Given the description of an element on the screen output the (x, y) to click on. 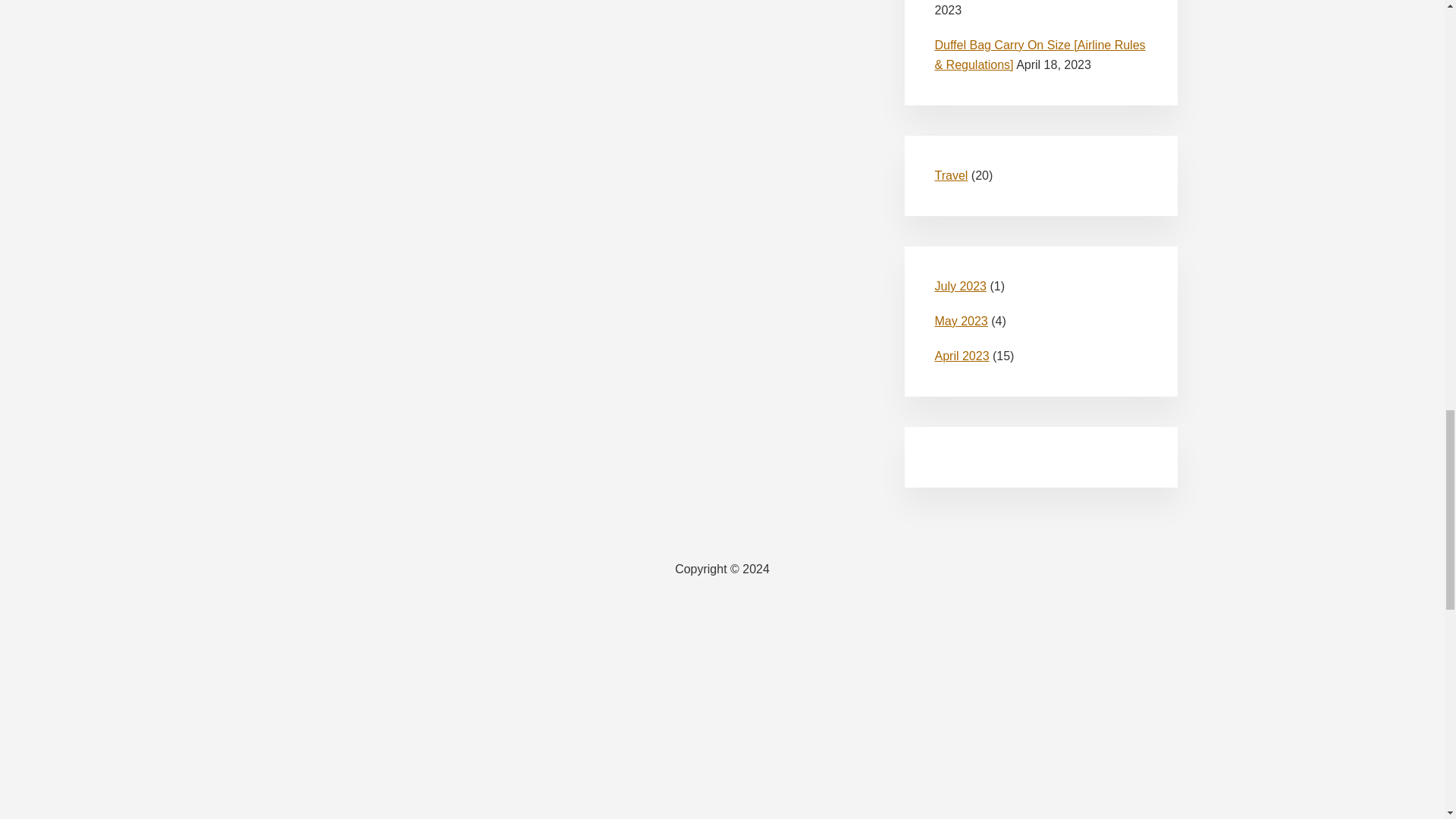
July 2023 (960, 286)
May 2023 (960, 320)
Travel (951, 174)
April 2023 (961, 355)
